Given the description of an element on the screen output the (x, y) to click on. 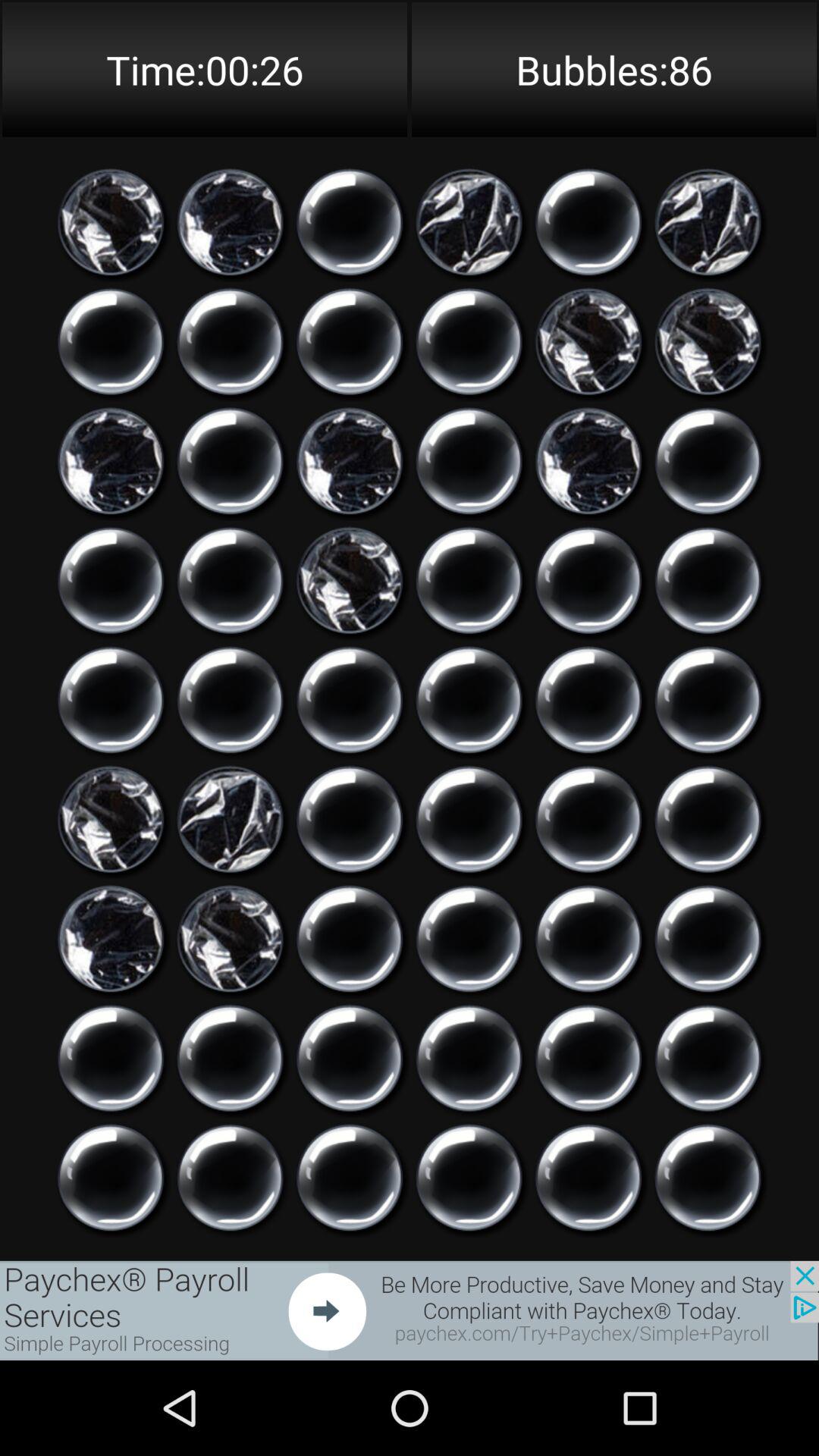
click bubble option (707, 1177)
